Given the description of an element on the screen output the (x, y) to click on. 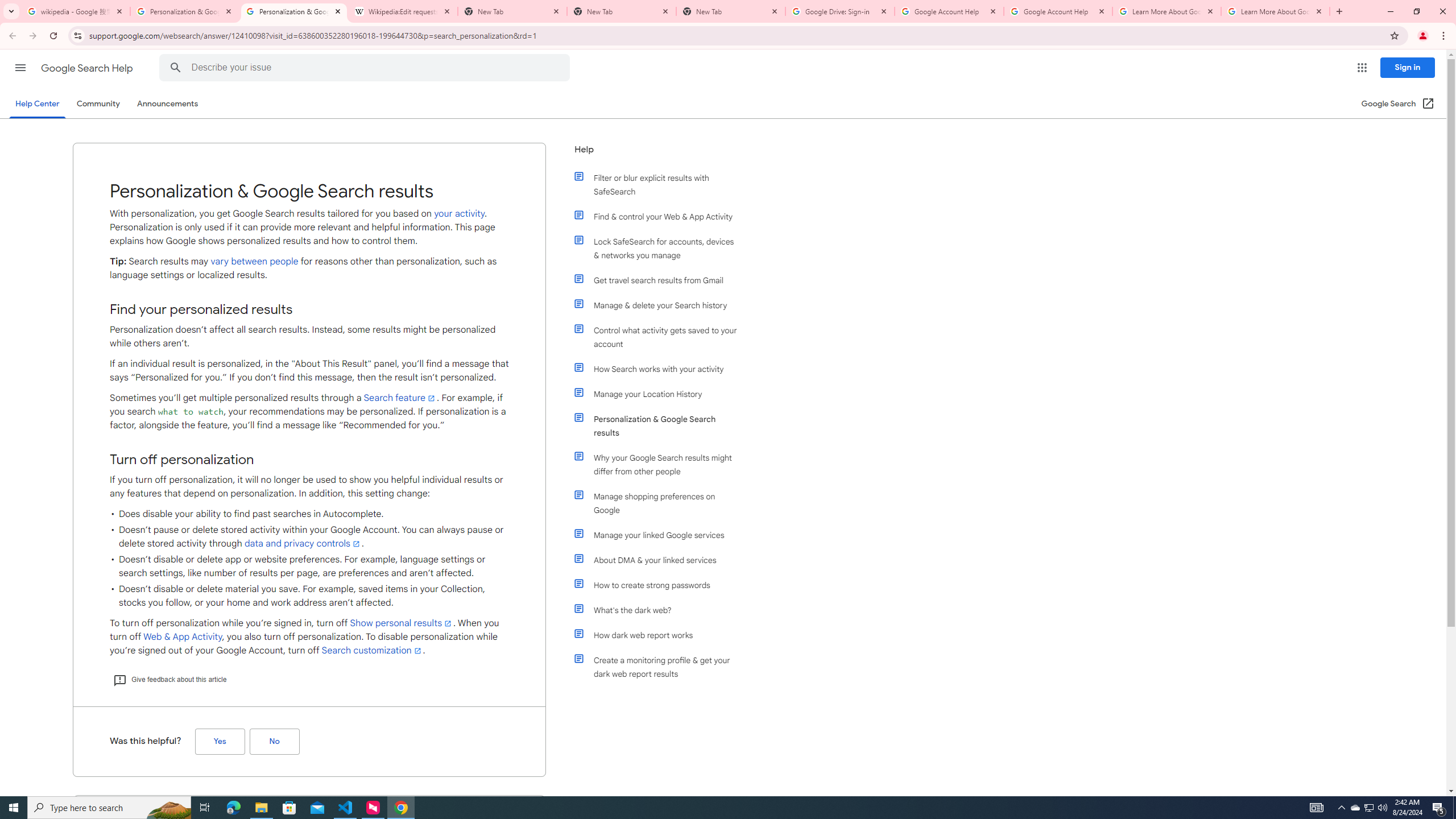
New Tab (621, 11)
Describe your issue (365, 67)
Community (97, 103)
Personalization & Google Search results - Google Search Help (293, 11)
Lock SafeSearch for accounts, devices & networks you manage (661, 248)
Personalization & Google Search results - Google Search Help (184, 11)
Find & control your Web & App Activity (661, 216)
What's the dark web? (661, 609)
Search customization (372, 650)
your activity (458, 213)
